Given the description of an element on the screen output the (x, y) to click on. 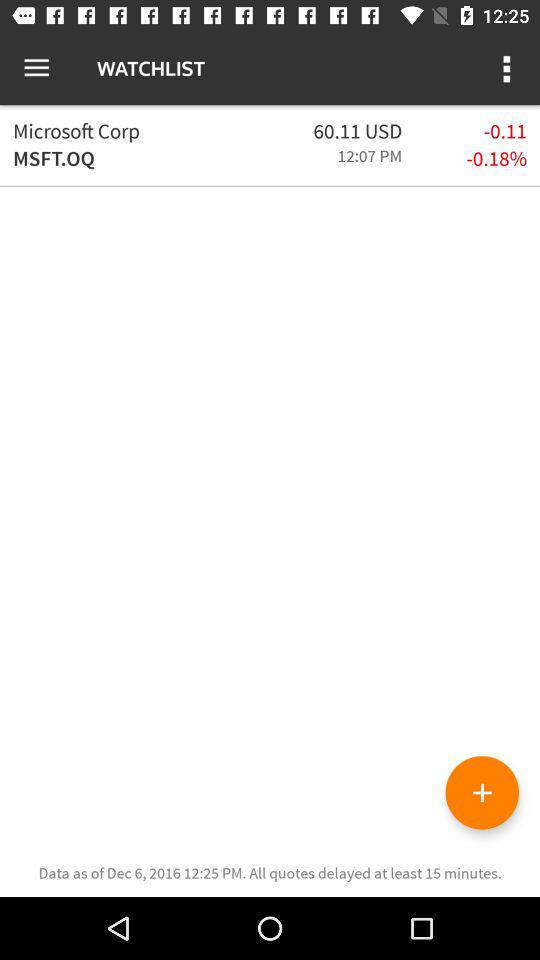
tap icon to the left of the watchlist (36, 68)
